Given the description of an element on the screen output the (x, y) to click on. 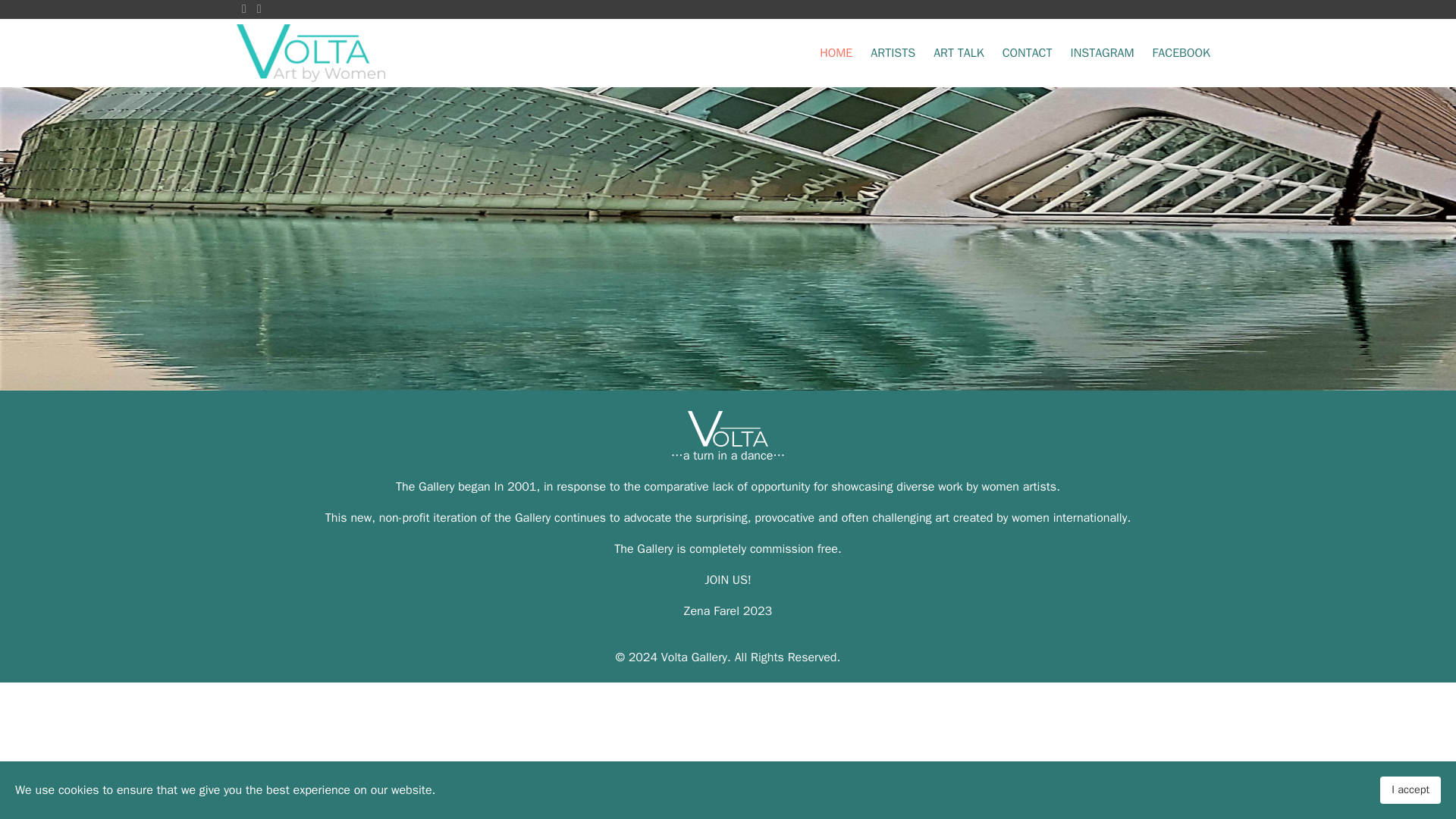
JOIN US! (727, 580)
ART TALK (958, 52)
FACEBOOK (1181, 52)
ARTISTS (892, 52)
Join Us! (727, 580)
INSTAGRAM (1101, 52)
CONTACT (1026, 52)
